Given the description of an element on the screen output the (x, y) to click on. 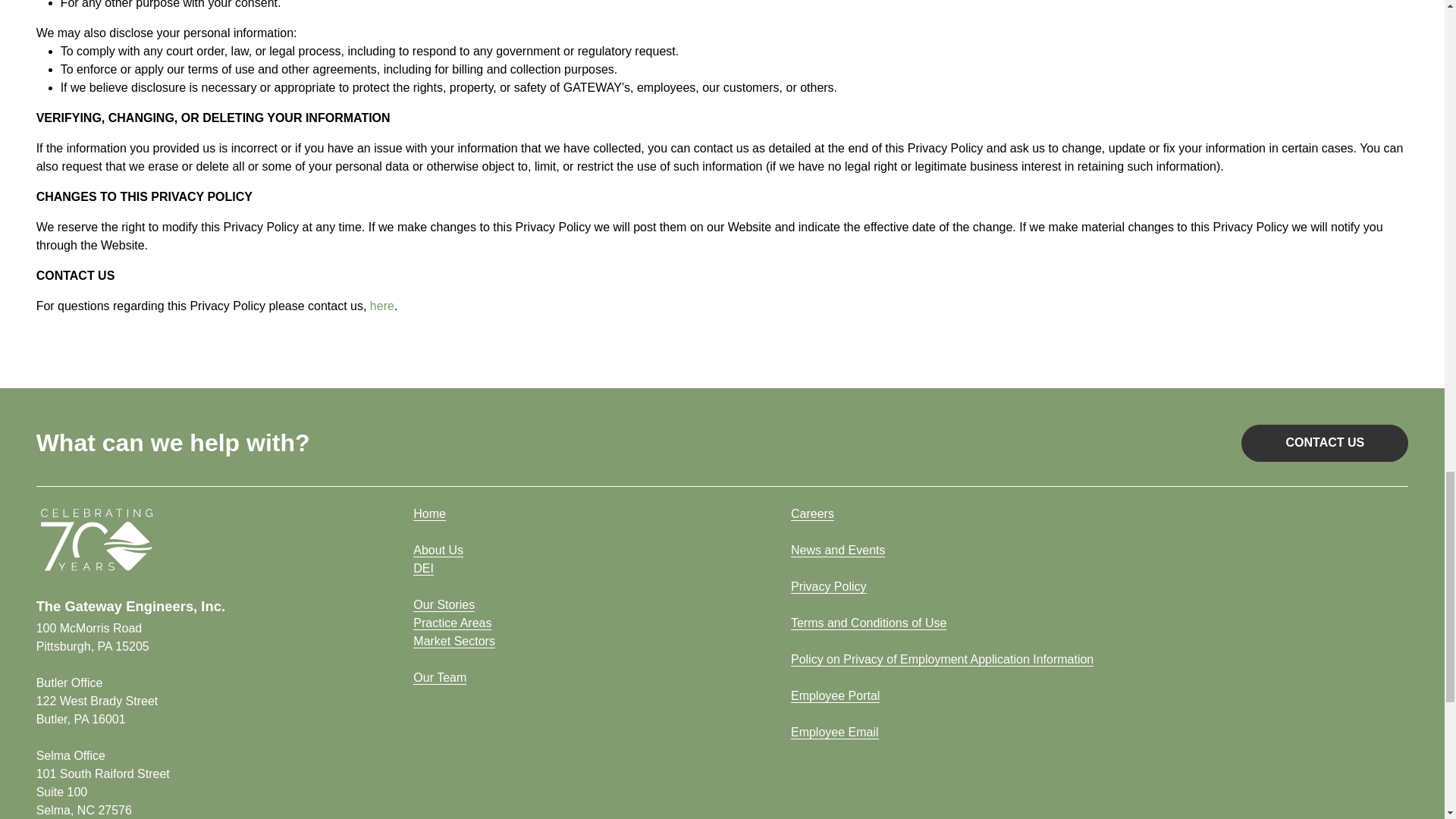
About Us (103, 791)
Practice Areas (92, 636)
Our Stories (438, 550)
Our Team (452, 622)
here (443, 604)
DEI (439, 677)
Home (381, 305)
CONTACT US (423, 568)
Market Sectors (429, 513)
